Given the description of an element on the screen output the (x, y) to click on. 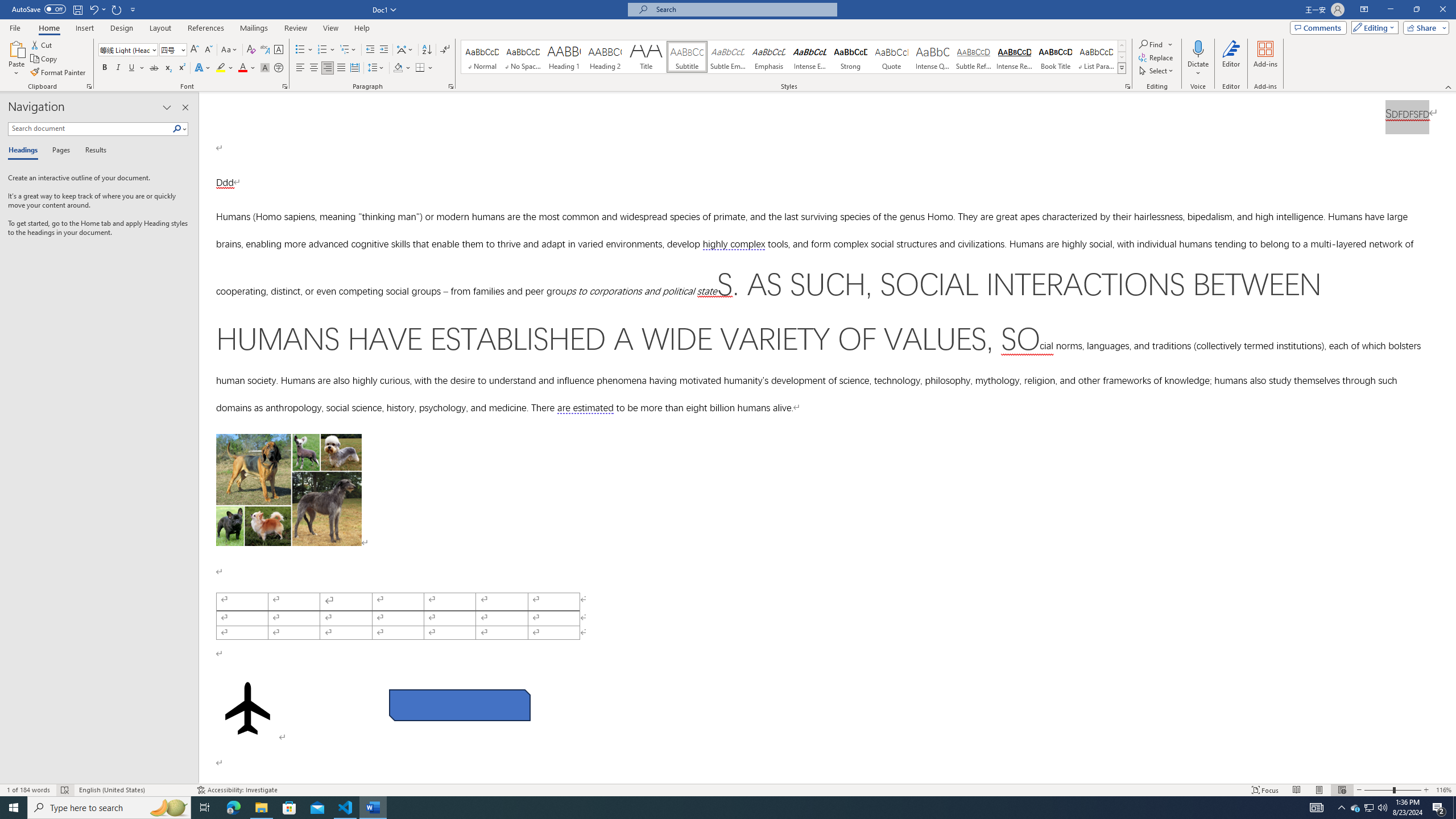
Font... (285, 85)
